Given the description of an element on the screen output the (x, y) to click on. 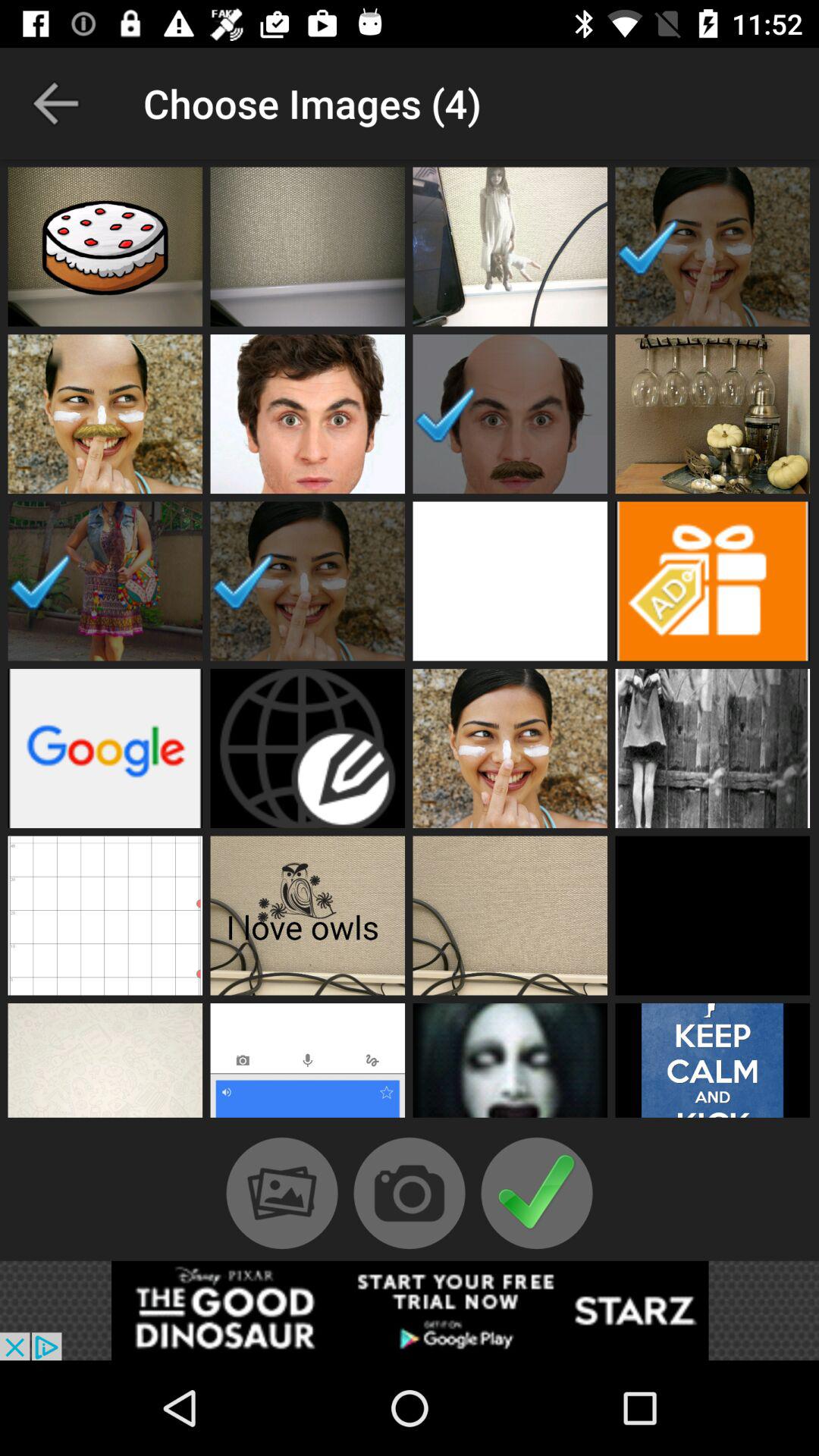
select this photo (307, 246)
